Given the description of an element on the screen output the (x, y) to click on. 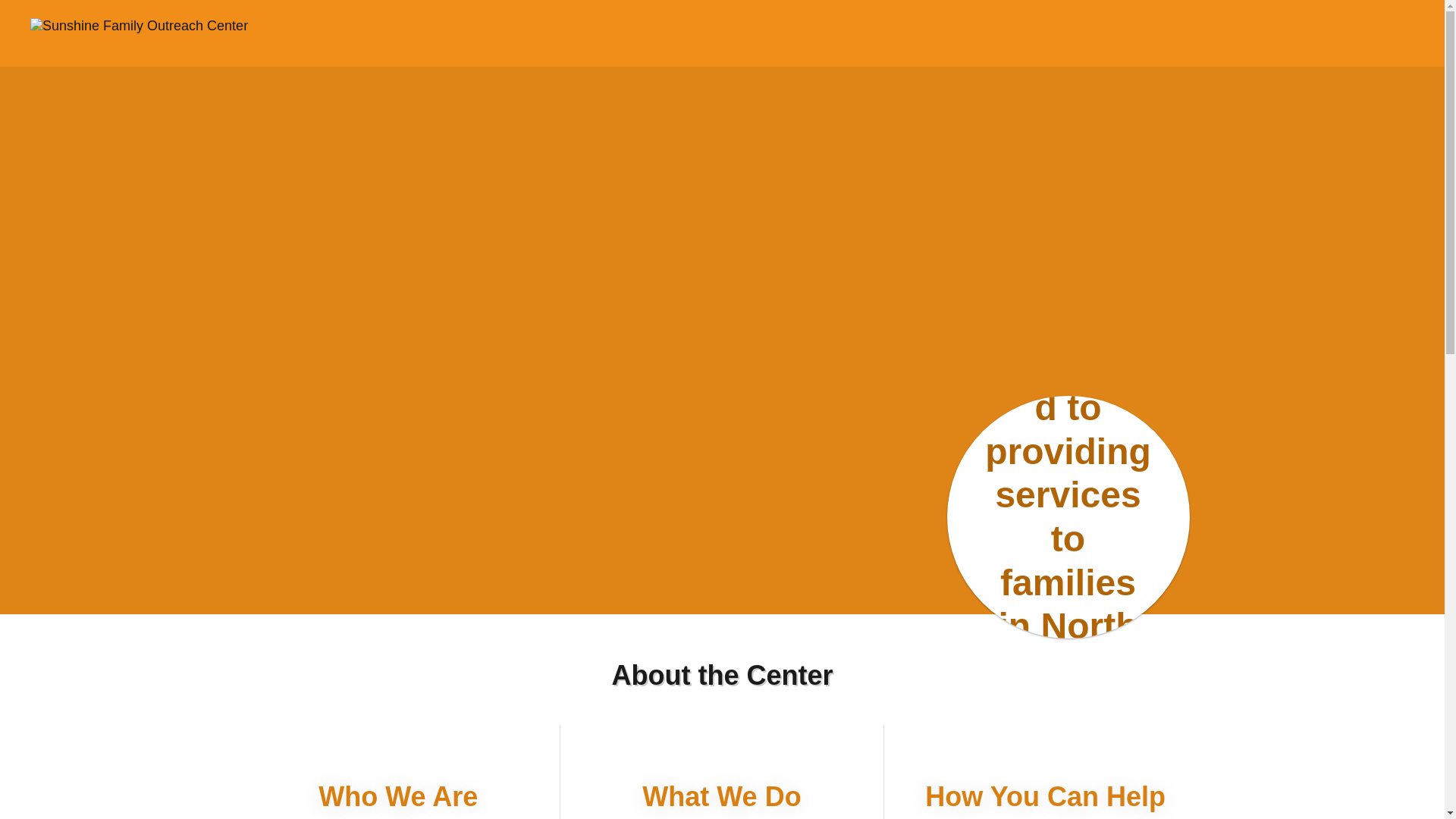
Sunshine Family Outreach Center Element type: hover (203, 24)
